Given the description of an element on the screen output the (x, y) to click on. 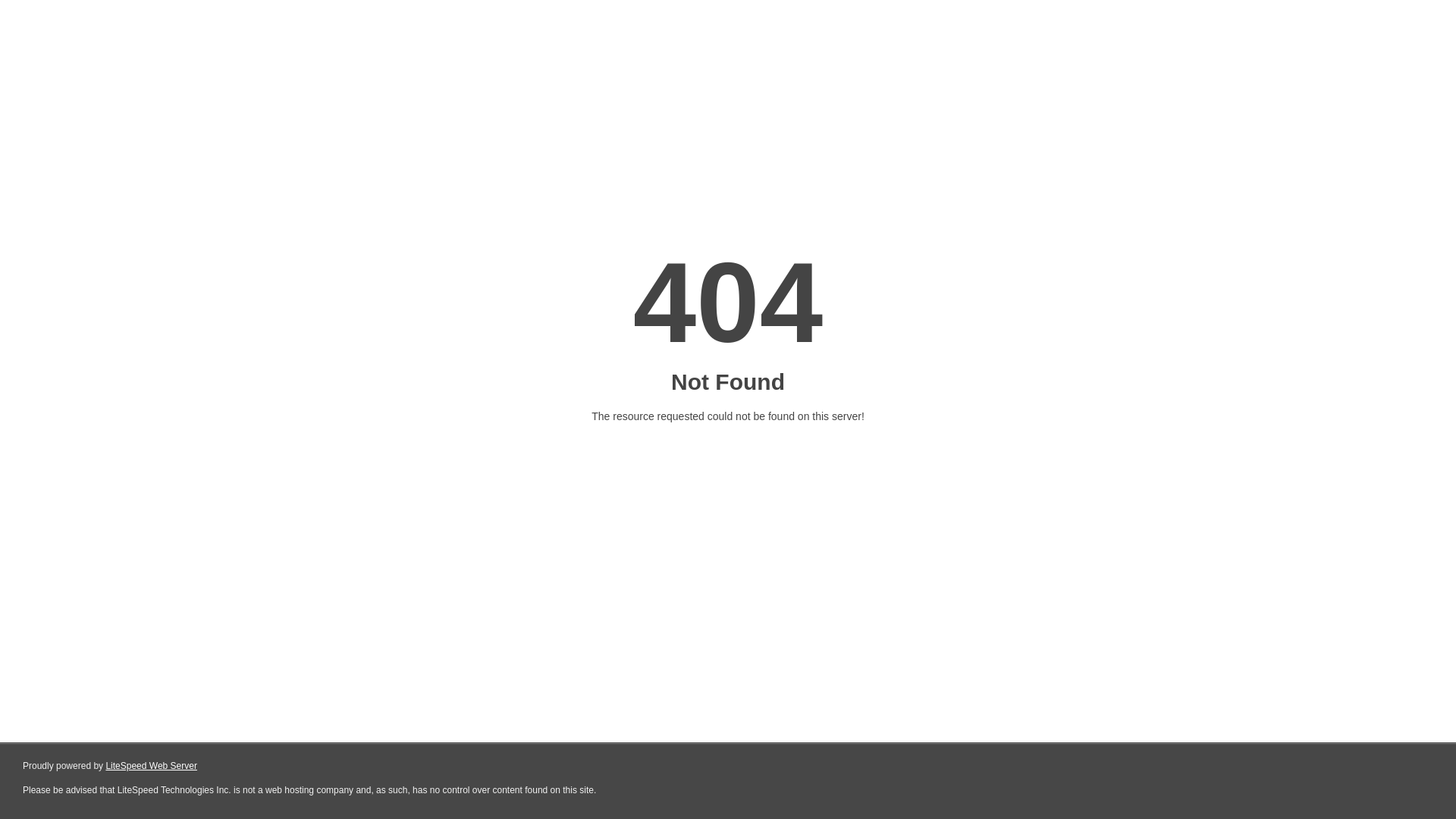
LiteSpeed Web Server (150, 765)
